Given the description of an element on the screen output the (x, y) to click on. 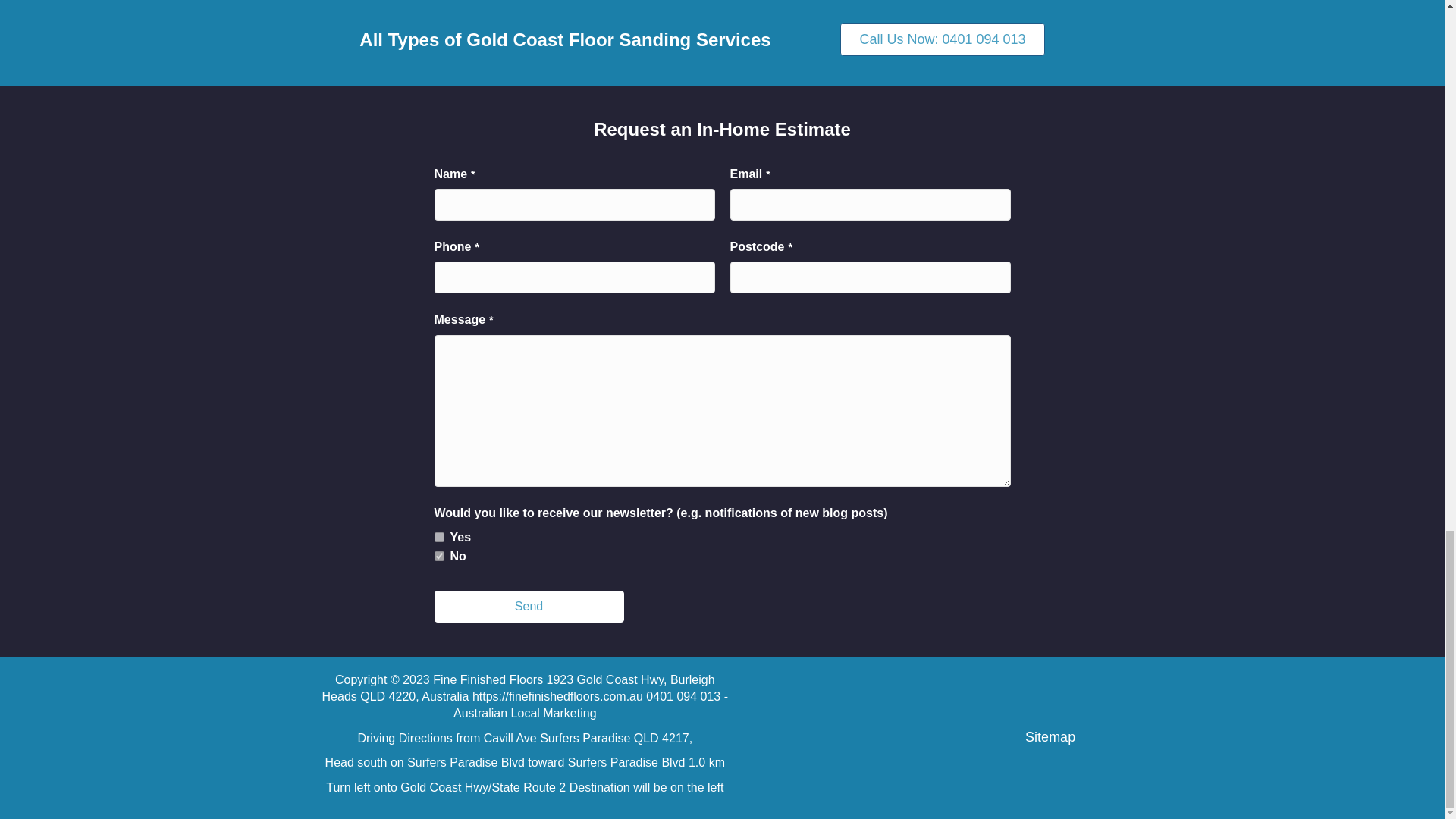
Call Us Now: 0401 094 013 (941, 39)
Sitemap (1050, 736)
Sitemap (1050, 736)
Yes (438, 537)
0401 094 013 (684, 696)
Send (528, 606)
Australian Local Marketing (524, 712)
No (438, 556)
